Given the description of an element on the screen output the (x, y) to click on. 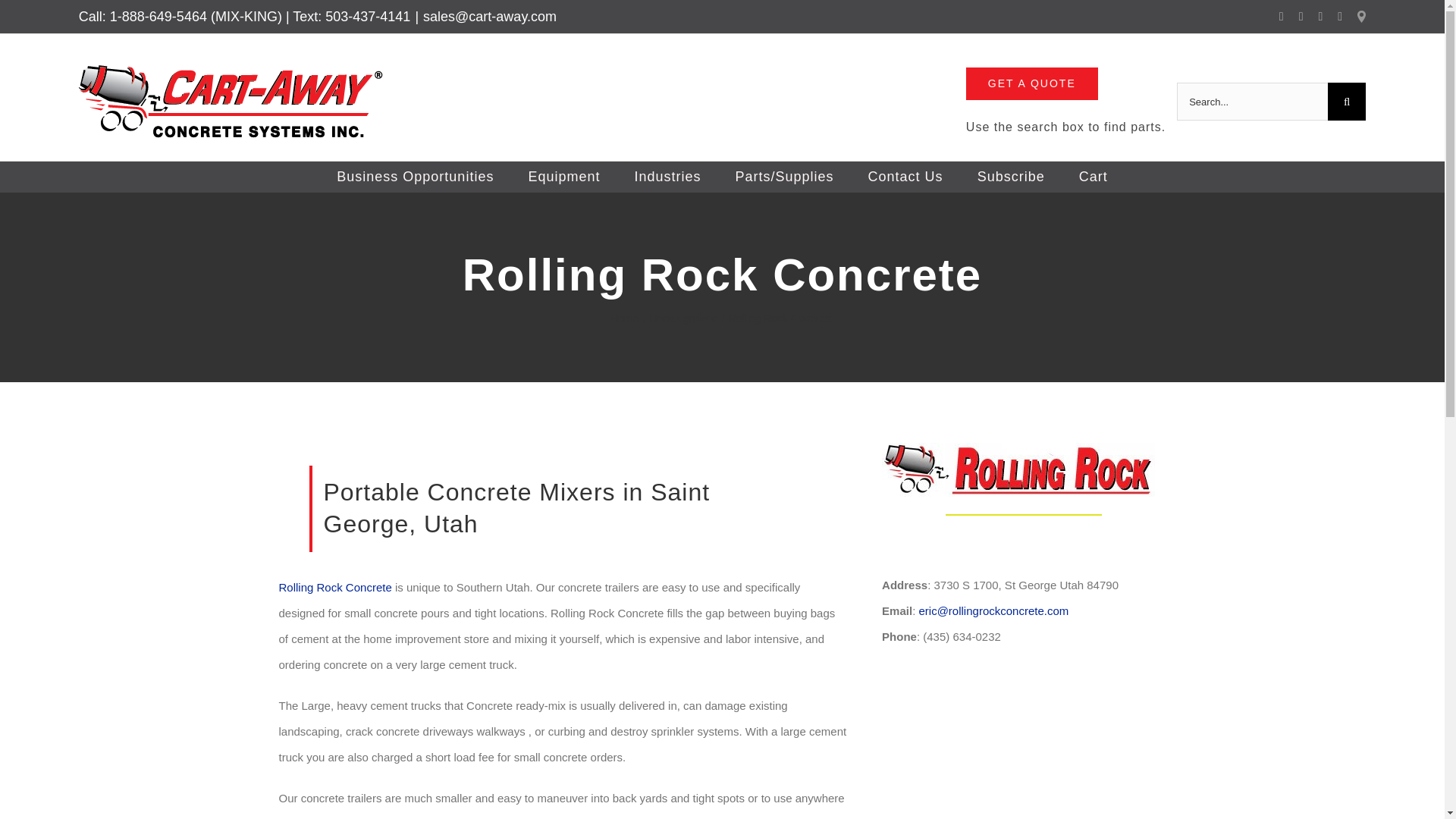
GET A QUOTE (1031, 83)
Industries (667, 176)
Subscribe (1010, 176)
Contact Us (904, 176)
Equipment (564, 176)
Business Opportunities (415, 176)
